Given the description of an element on the screen output the (x, y) to click on. 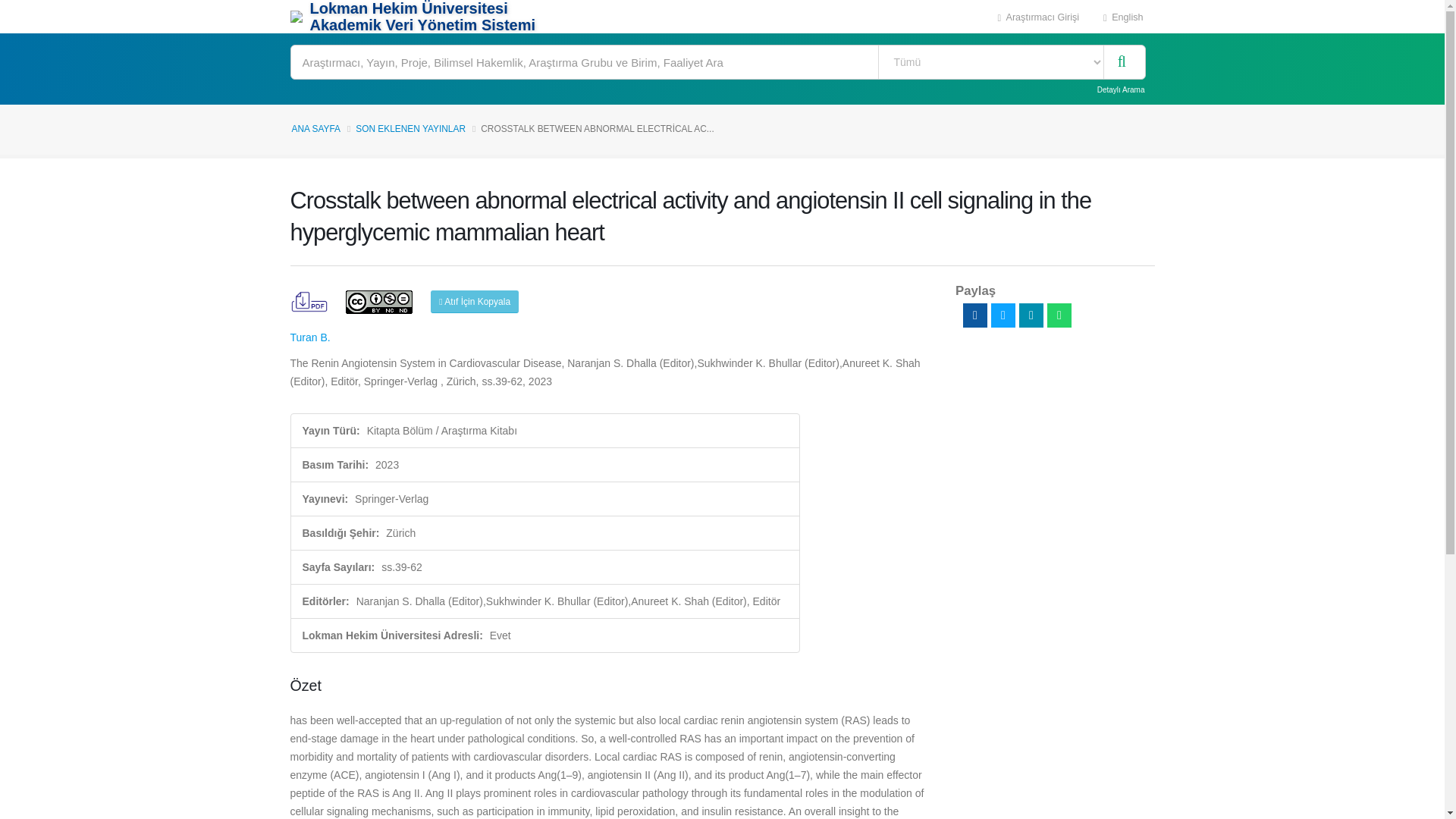
SON EKLENEN YAYINLAR (410, 128)
English (1123, 17)
ANA SAYFA (315, 128)
Turan B. (309, 337)
